Given the description of an element on the screen output the (x, y) to click on. 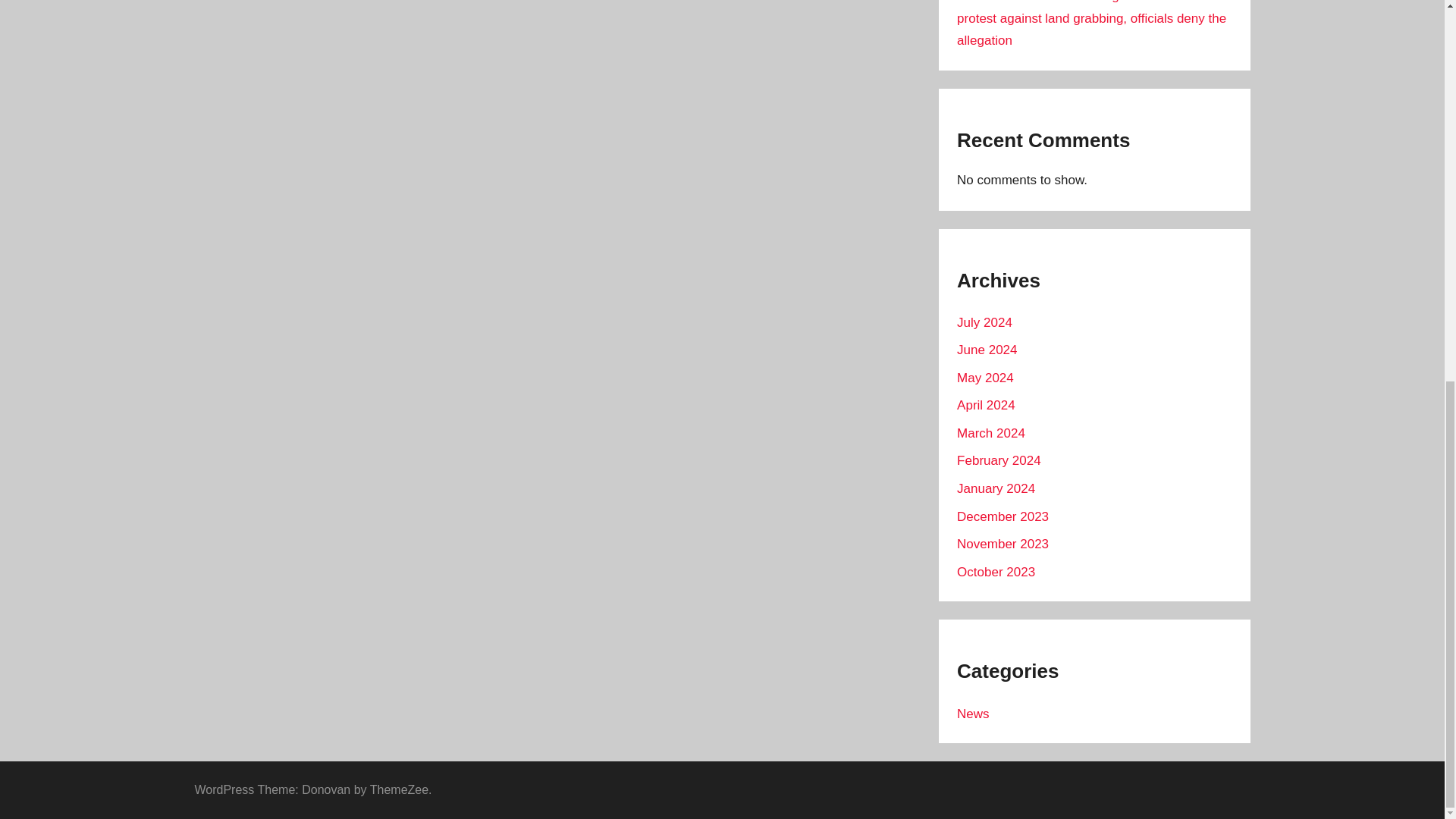
February 2024 (998, 460)
May 2024 (984, 377)
July 2024 (983, 322)
April 2024 (985, 405)
June 2024 (986, 350)
November 2023 (1002, 544)
March 2024 (990, 432)
December 2023 (1002, 516)
October 2023 (995, 572)
January 2024 (995, 488)
News (973, 713)
